Given the description of an element on the screen output the (x, y) to click on. 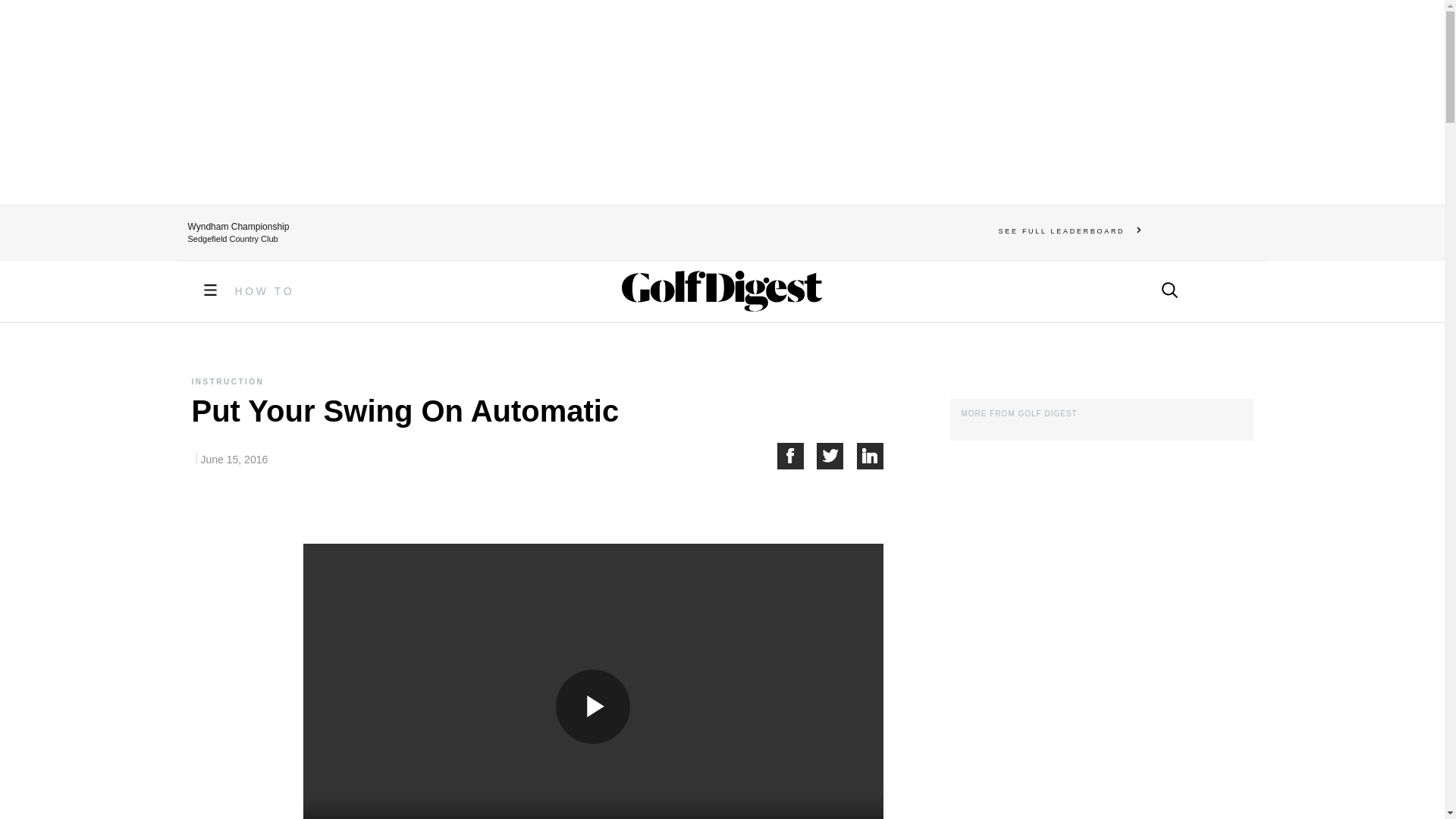
Share on Twitter (836, 456)
Play Video (593, 706)
Share on LinkedIn (870, 456)
Share on Facebook (796, 456)
HOW TO (264, 291)
SEE FULL LEADERBOARD (1069, 230)
